Given the description of an element on the screen output the (x, y) to click on. 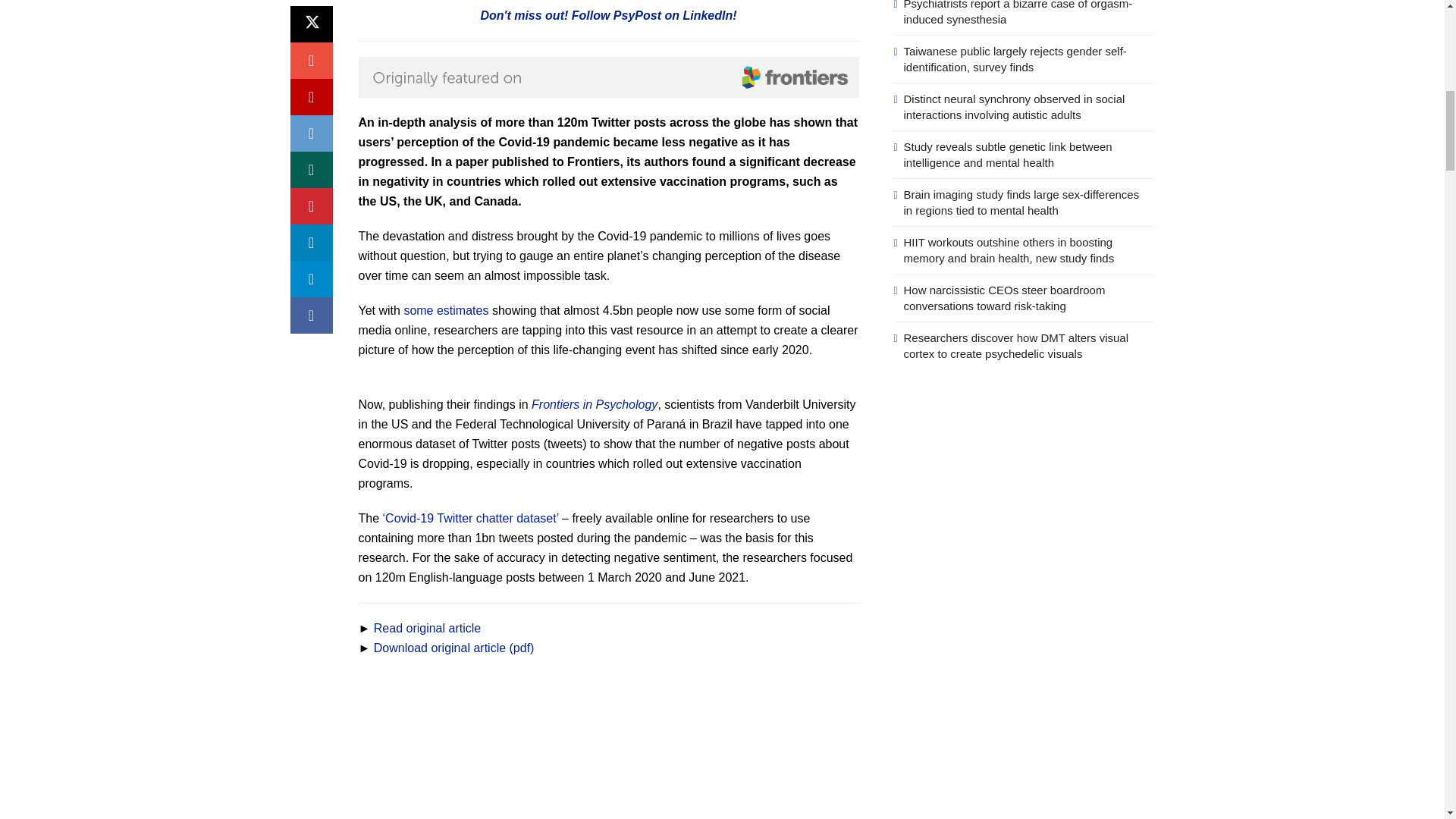
some estimates (445, 309)
Don't miss out! Follow PsyPost on LinkedIn! (608, 15)
Frontiers in Psychology (594, 404)
Read original article (427, 627)
